Given the description of an element on the screen output the (x, y) to click on. 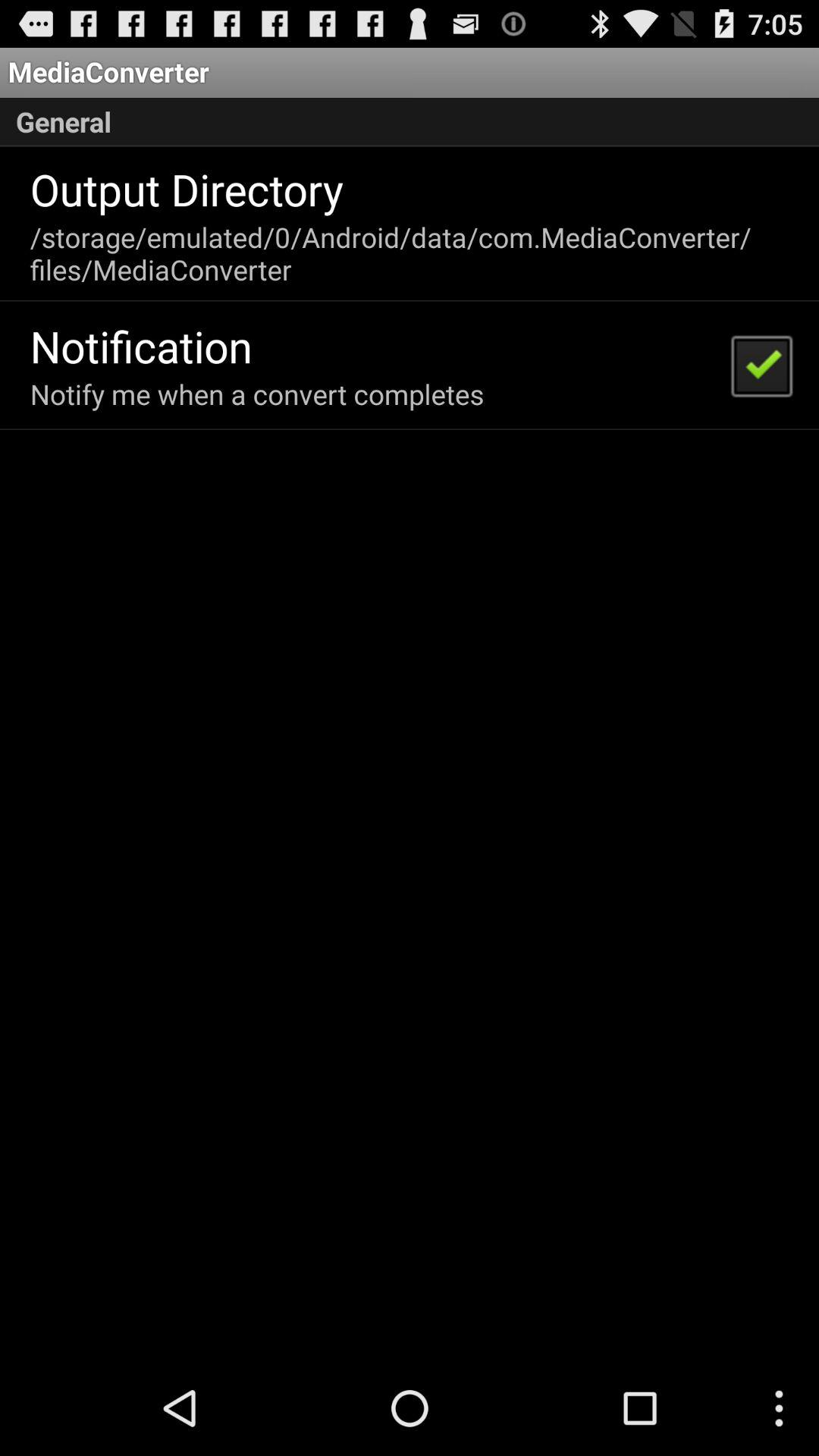
jump to the output directory icon (186, 188)
